Given the description of an element on the screen output the (x, y) to click on. 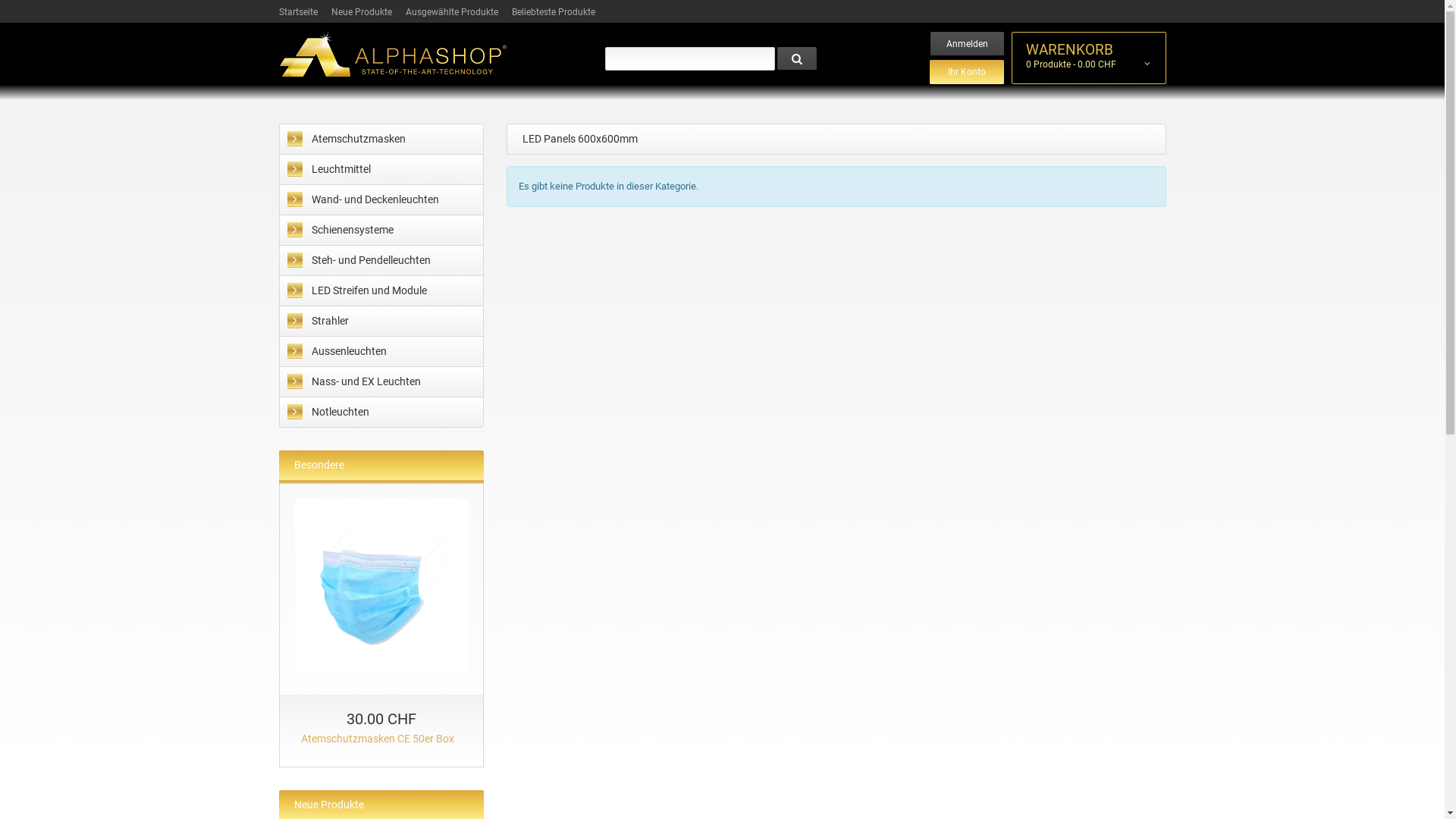
Besondere Element type: text (319, 465)
Schienensysteme Element type: text (380, 229)
Leuchtmittel Element type: text (380, 169)
Strahler Element type: text (380, 320)
Atemschutzmasken Element type: text (380, 138)
WARENKORB
0 Produkte - 0.00 CHF Element type: text (1087, 57)
Notleuchten Element type: text (380, 411)
 Anmelden  Element type: text (966, 43)
Neue Produkte Element type: text (360, 11)
Atemschutzmasken CE 50er Box Element type: text (381, 738)
Aussenleuchten Element type: text (380, 351)
Wand- und Deckenleuchten Element type: text (380, 199)
Alphashop Element type: hover (392, 54)
Steh- und Pendelleuchten Element type: text (380, 260)
LED Streifen und Module Element type: text (380, 290)
Startseite Element type: text (298, 11)
Nass- und EX Leuchten Element type: text (380, 381)
Ihr Konto Element type: text (966, 71)
Beliebteste Produkte Element type: text (552, 11)
Neue Produkte Element type: text (329, 804)
Atemschutzmasken CE 50er Box Element type: hover (380, 584)
